Given the description of an element on the screen output the (x, y) to click on. 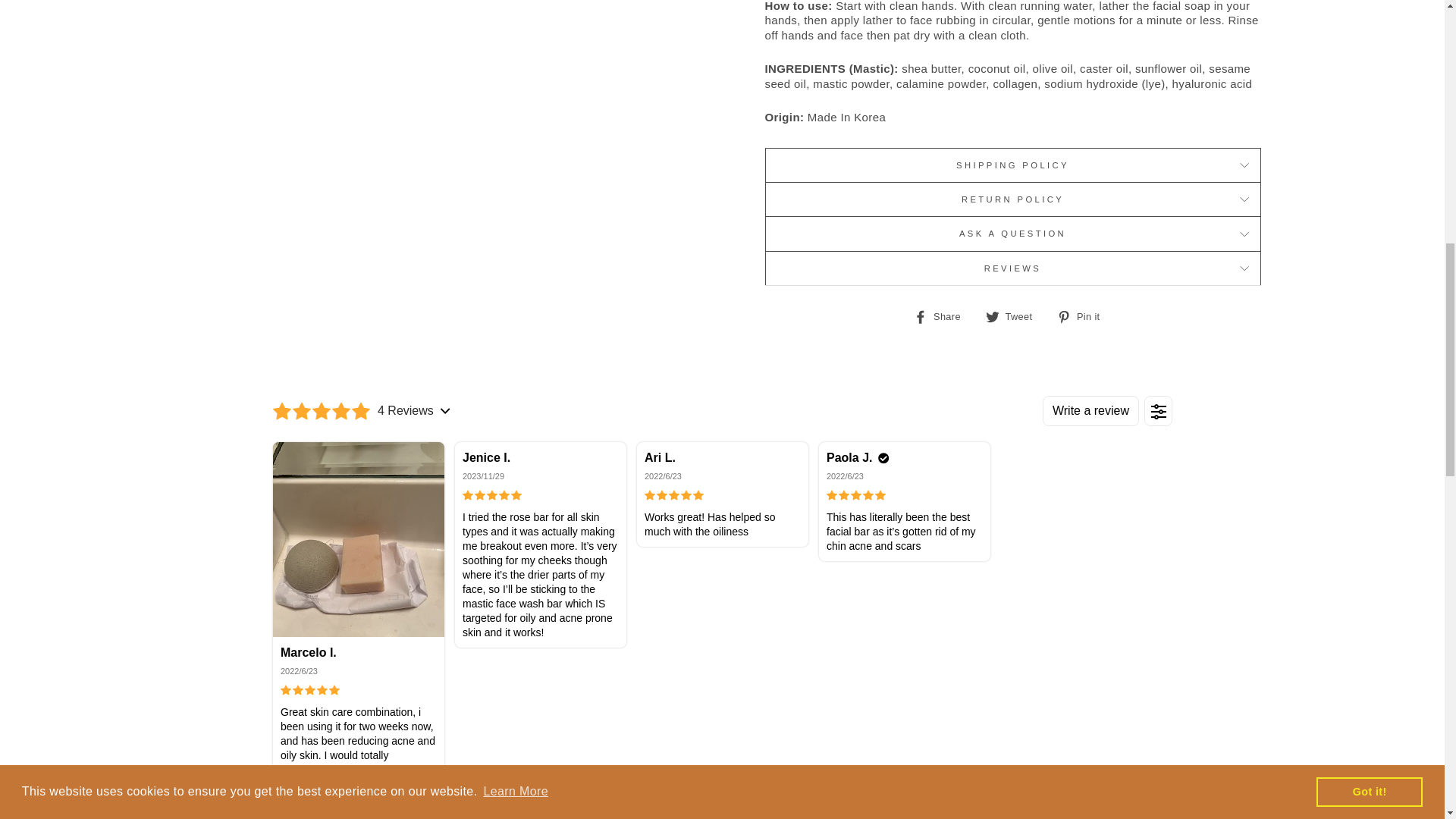
Pin on Pinterest (1083, 315)
Tweet on Twitter (1014, 315)
Share on Facebook (942, 315)
